Given the description of an element on the screen output the (x, y) to click on. 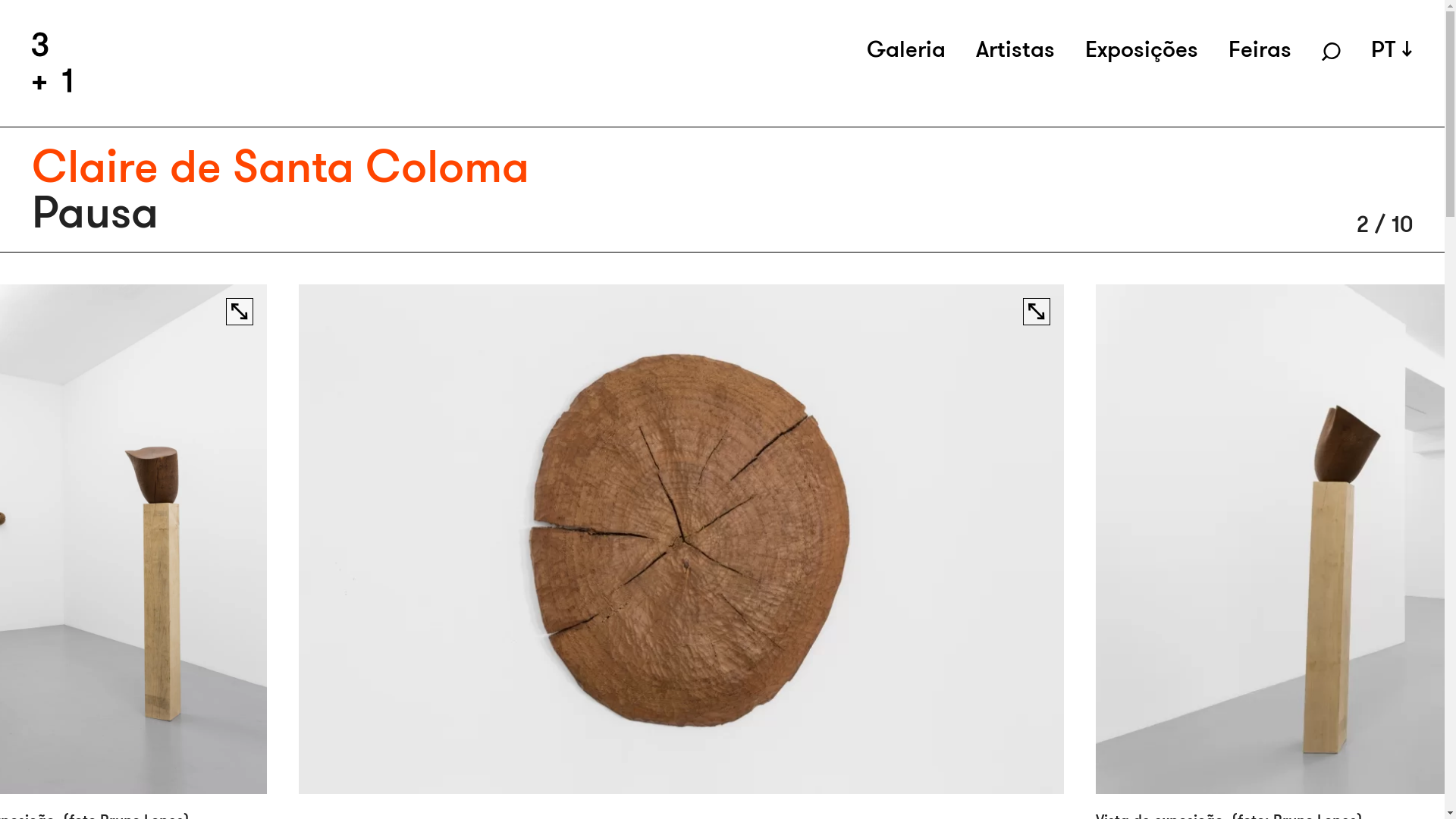
Facebook Element type: text (789, 477)
Instagram Element type: text (790, 497)
Feiras Element type: text (1259, 49)
Desisto Element type: text (1183, 795)
Galeria Element type: text (905, 49)
Abrir Mapa Element type: text (76, 571)
Artistas Element type: text (1014, 49)
Subscrever Element type: text (1027, 617)
PT Element type: text (1391, 49)
galeria@3m1arte.com Element type: text (592, 571)
Twitter Element type: text (779, 516)
galeria@3m1arte.com Element type: text (352, 595)
